Given the description of an element on the screen output the (x, y) to click on. 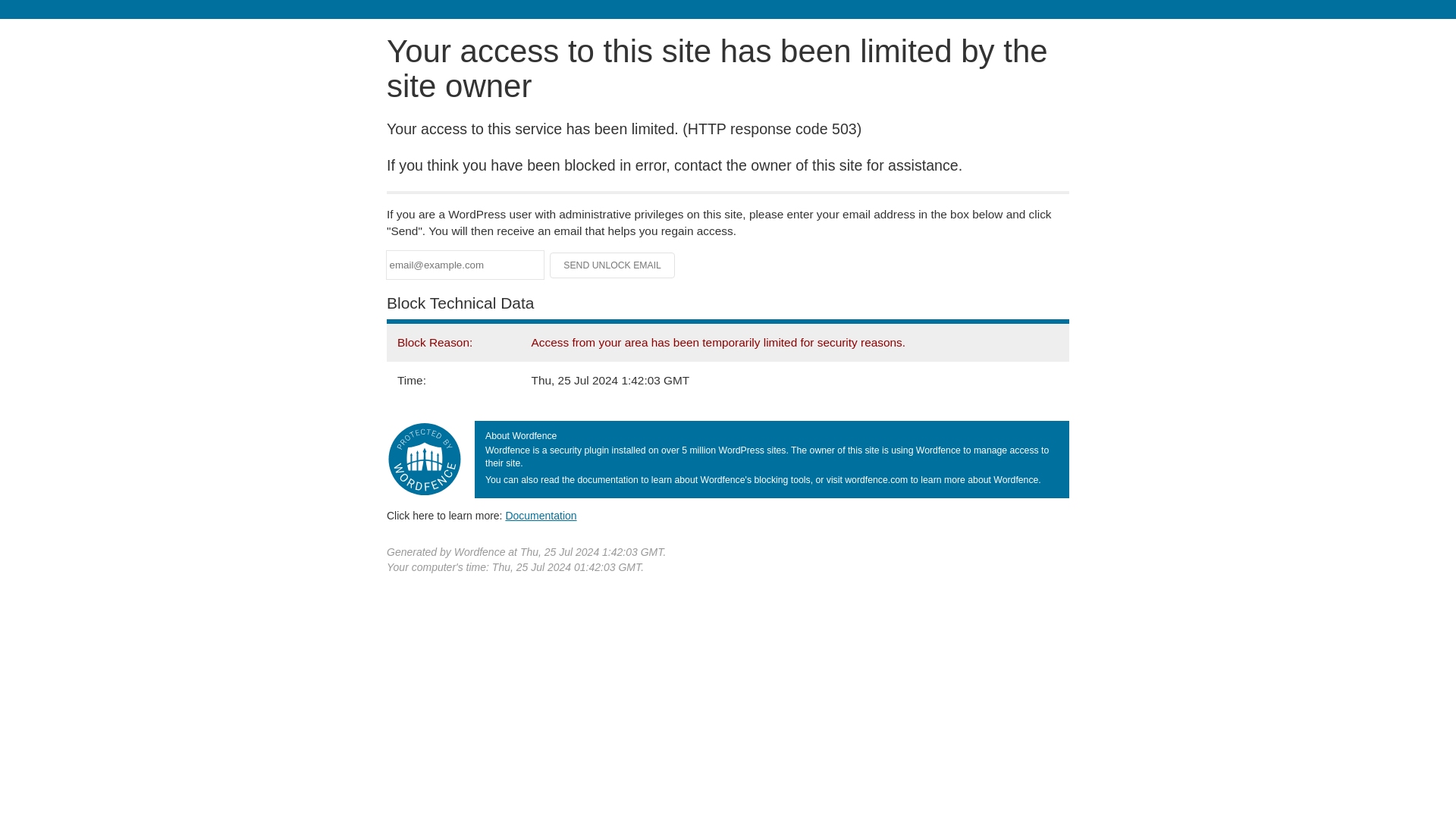
Send Unlock Email (612, 265)
Documentation (540, 515)
Send Unlock Email (612, 265)
